Given the description of an element on the screen output the (x, y) to click on. 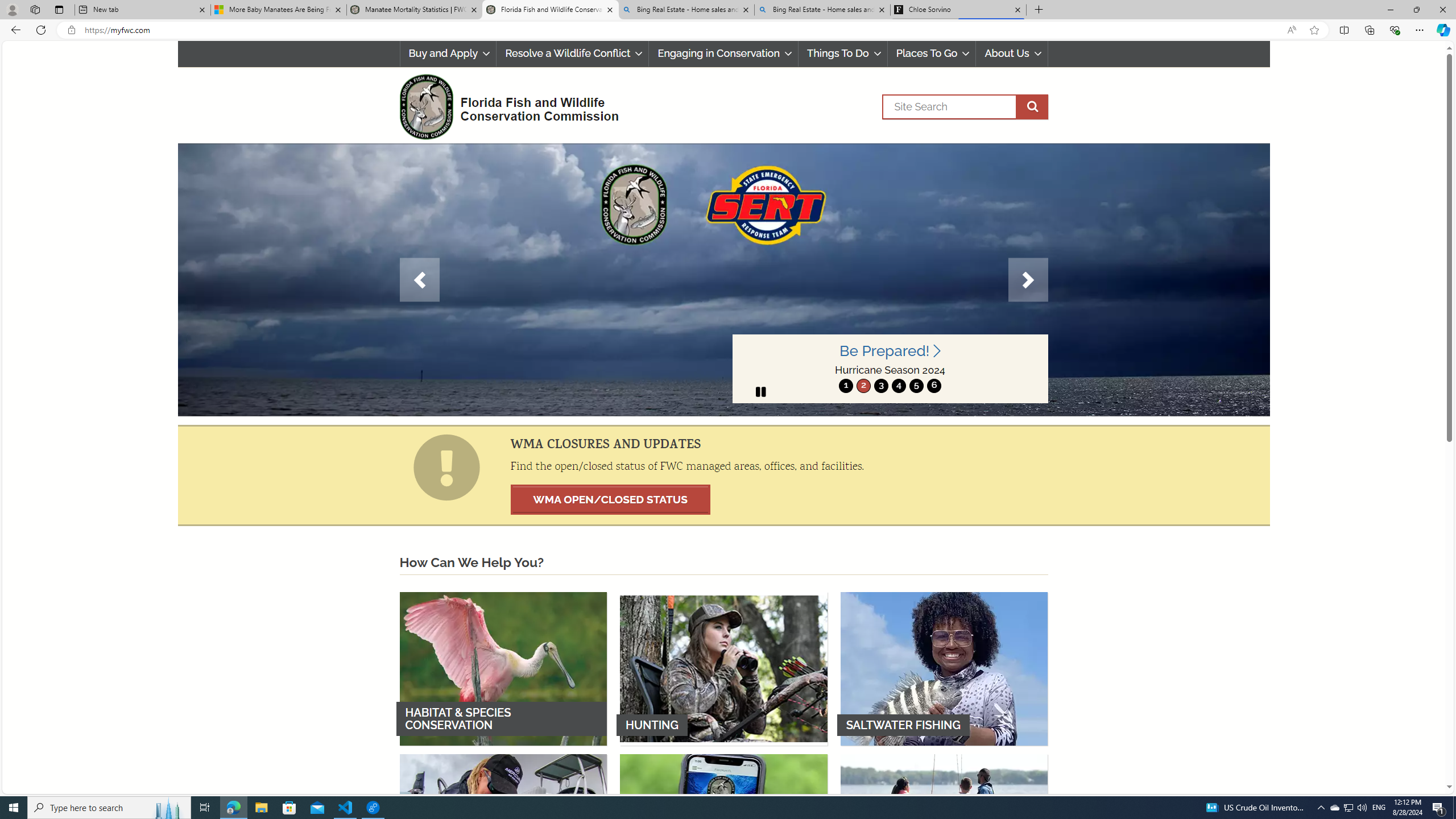
HABITAT & SPECIES CONSERVATION (502, 668)
move to slide 1 (845, 385)
Things To Do (841, 53)
SALTWATER FISHING (944, 668)
slider pause button (760, 391)
Buy and Apply (448, 53)
WMA OPEN/CLOSED STATUS (609, 499)
